Given the description of an element on the screen output the (x, y) to click on. 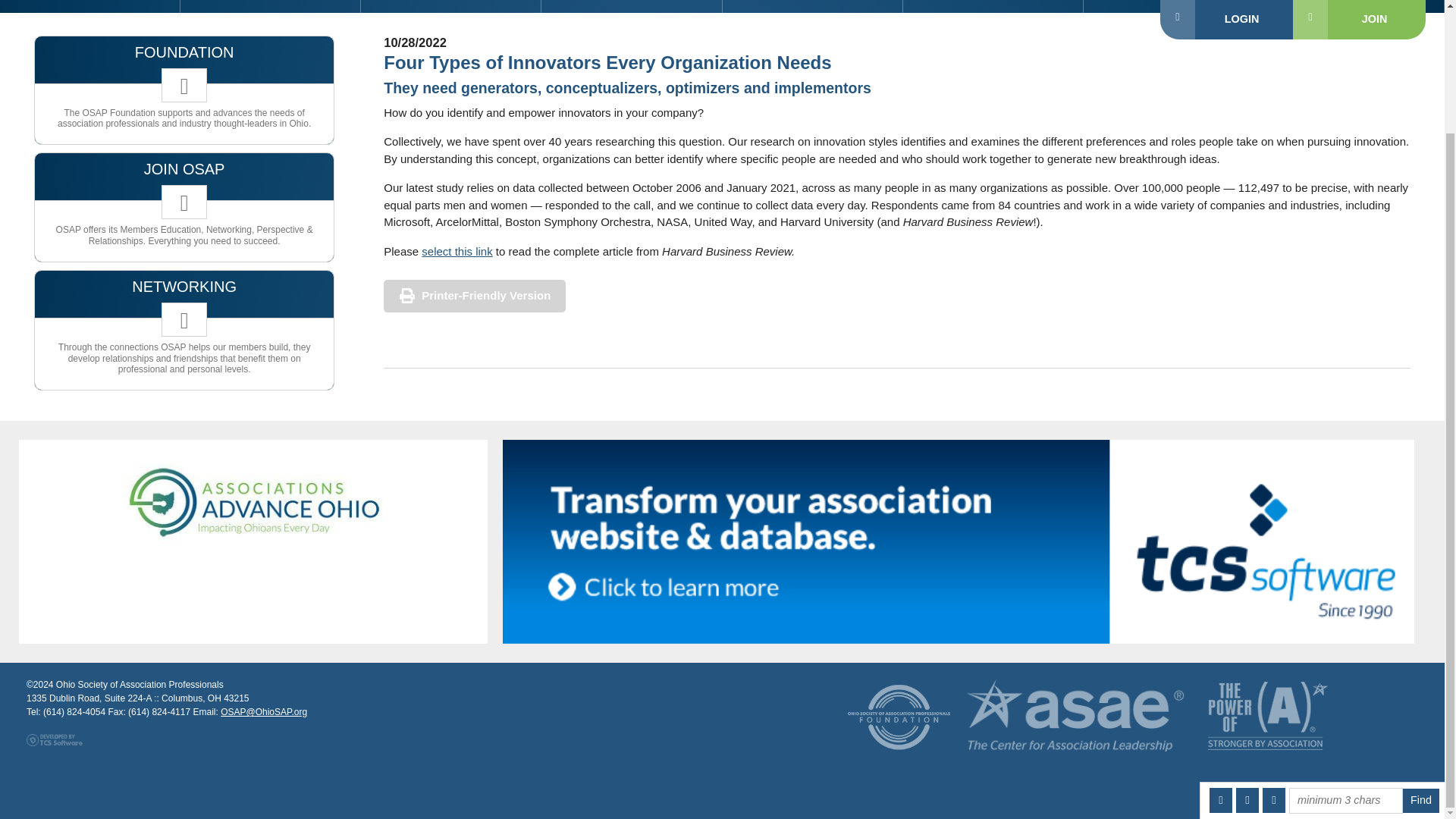
Find (1421, 652)
Find (1421, 652)
Find (1421, 652)
FOUNDATION (631, 6)
KNOWLEDGE HUB (812, 6)
ABOUT (1173, 6)
RESOURCES (451, 6)
JOIN (90, 6)
CAREER CENTER (992, 6)
